Given the description of an element on the screen output the (x, y) to click on. 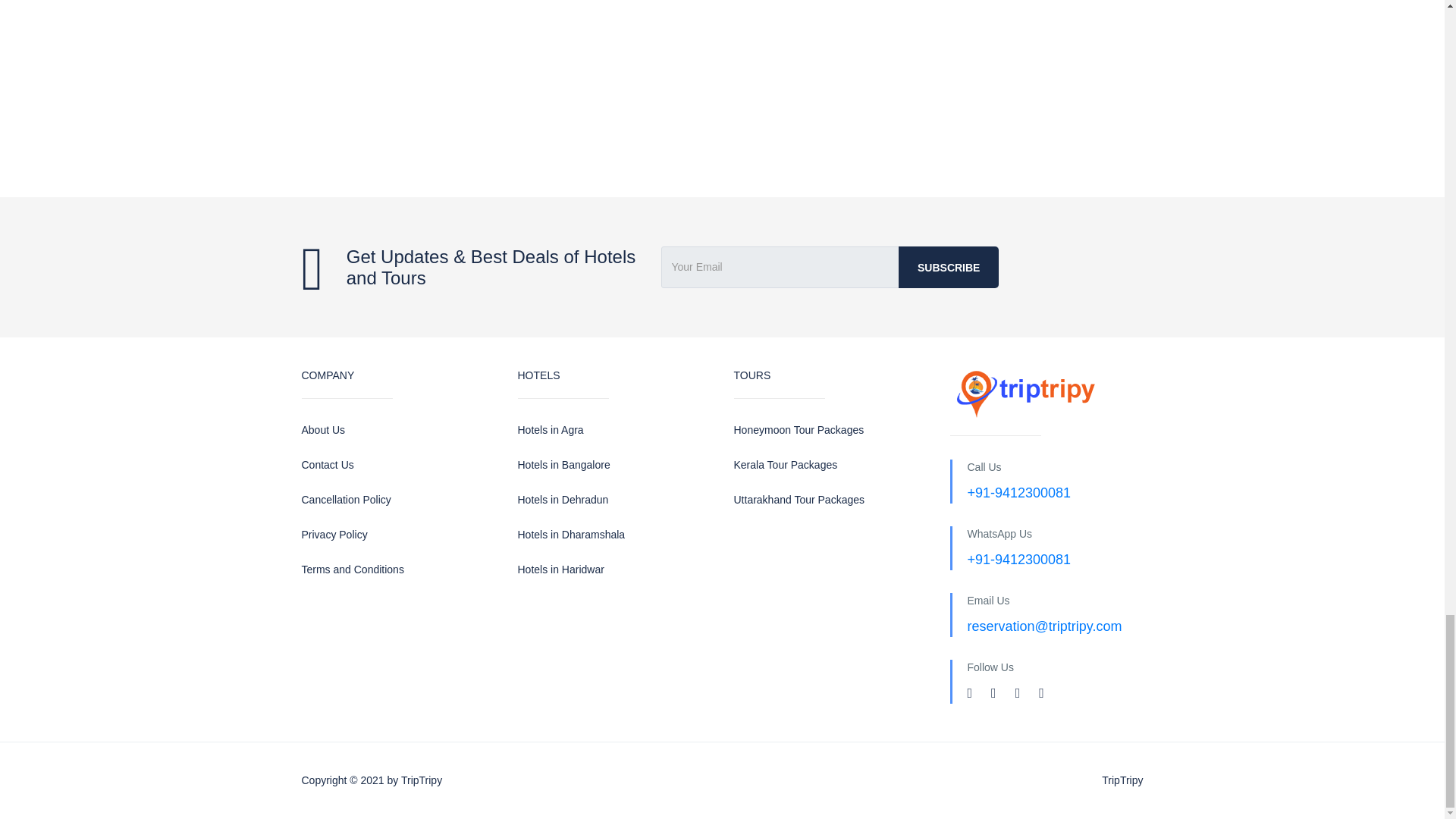
SUBSCRIBE (948, 267)
About Us (398, 430)
Contact Us (398, 465)
